Given the description of an element on the screen output the (x, y) to click on. 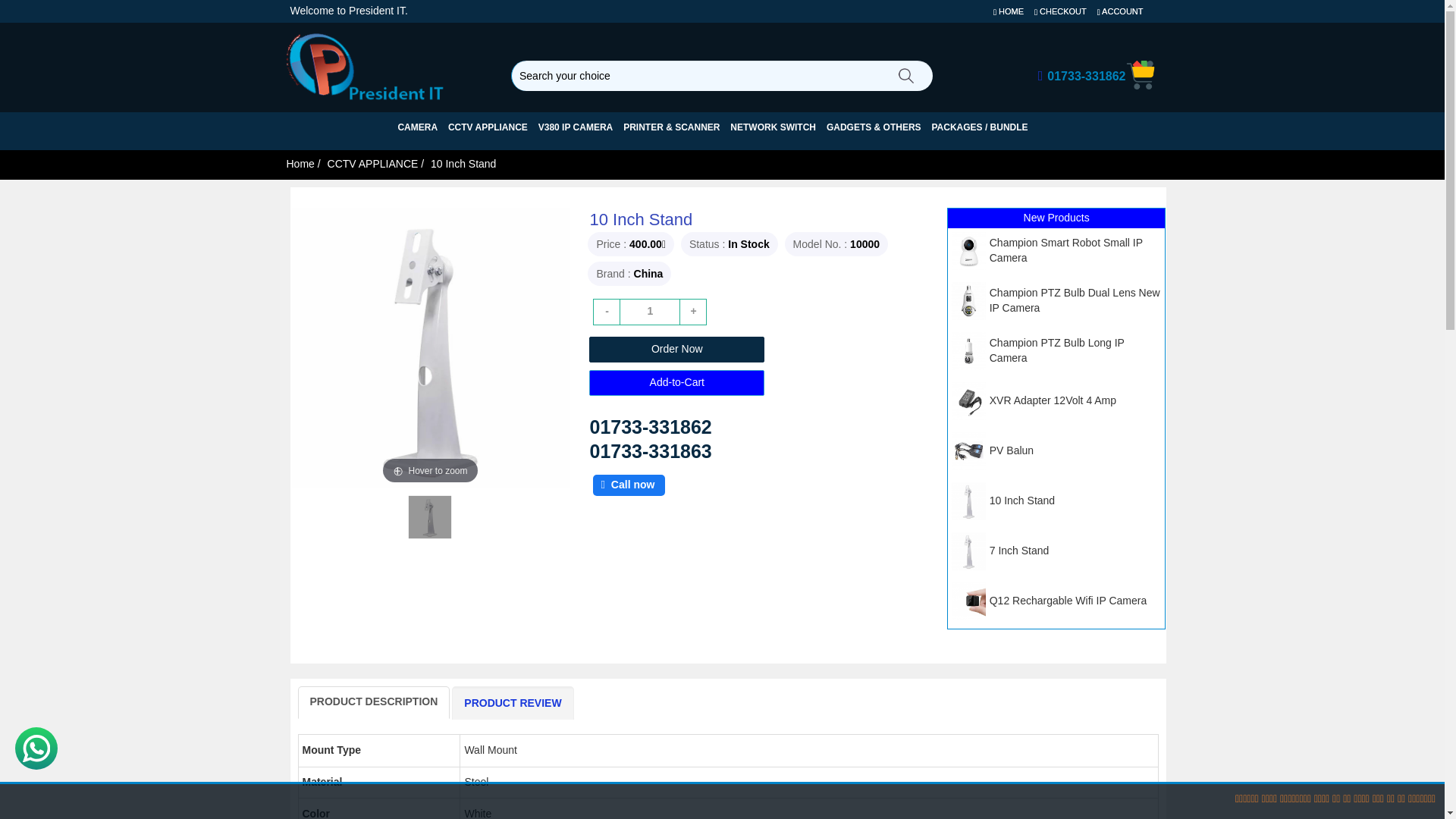
CAMERA (417, 127)
CCTV APPLIANCE (487, 127)
HOME (1007, 11)
CHECKOUT (1059, 11)
NETWORK SWITCH (772, 127)
presidentit logo (379, 65)
01733331863 (650, 450)
V380 IP CAMERA (575, 127)
01733-331862 (1081, 76)
